Given the description of an element on the screen output the (x, y) to click on. 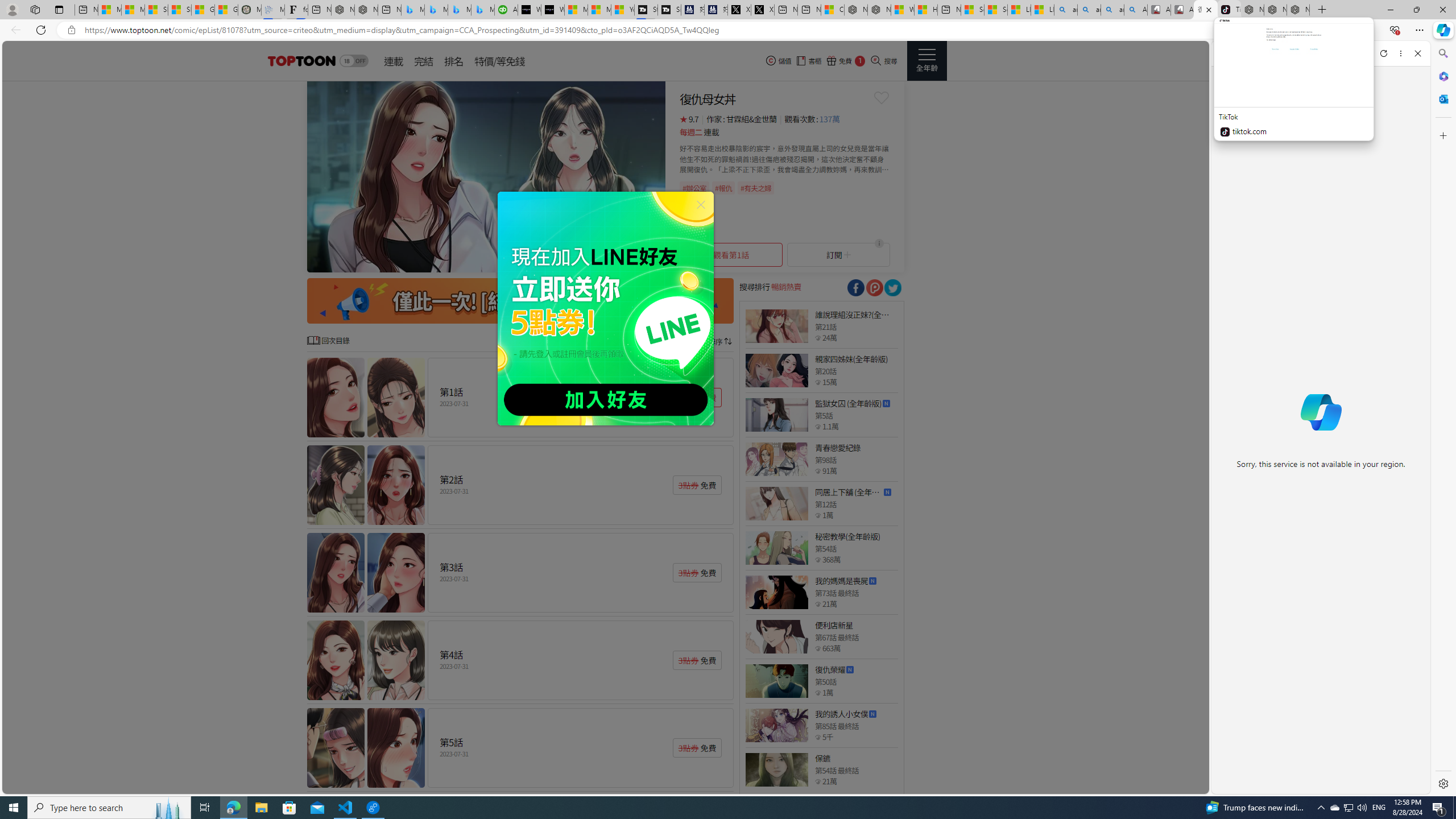
Class: socialShare (892, 287)
